Given the description of an element on the screen output the (x, y) to click on. 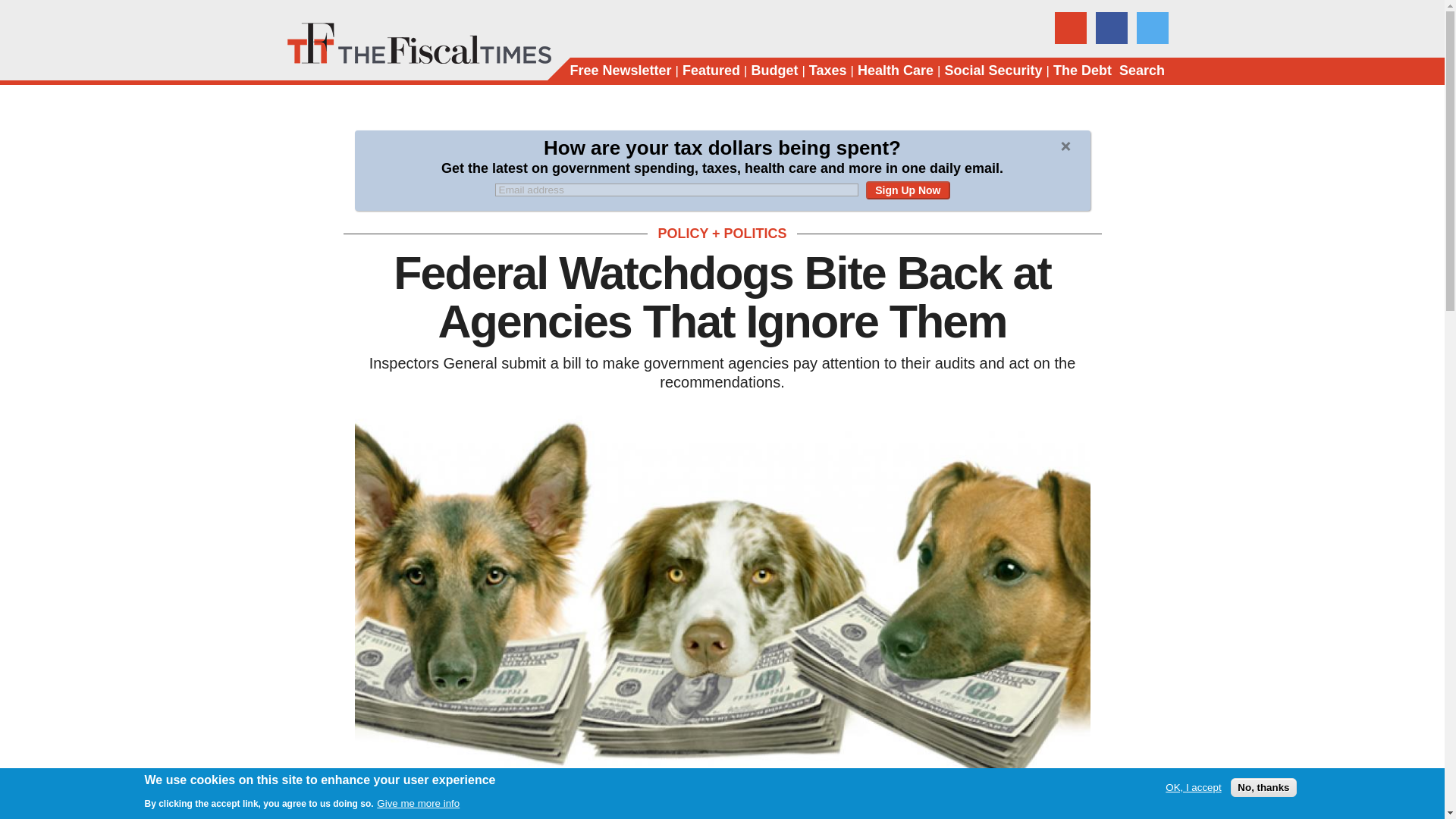
Health Care (895, 71)
Budget (774, 71)
Featured (710, 71)
Sign Up Now (907, 189)
Free Newsletter (620, 71)
Budget (774, 71)
Taxes (828, 71)
Social Security (992, 71)
Search (1141, 71)
The Debt (1082, 71)
